Given the description of an element on the screen output the (x, y) to click on. 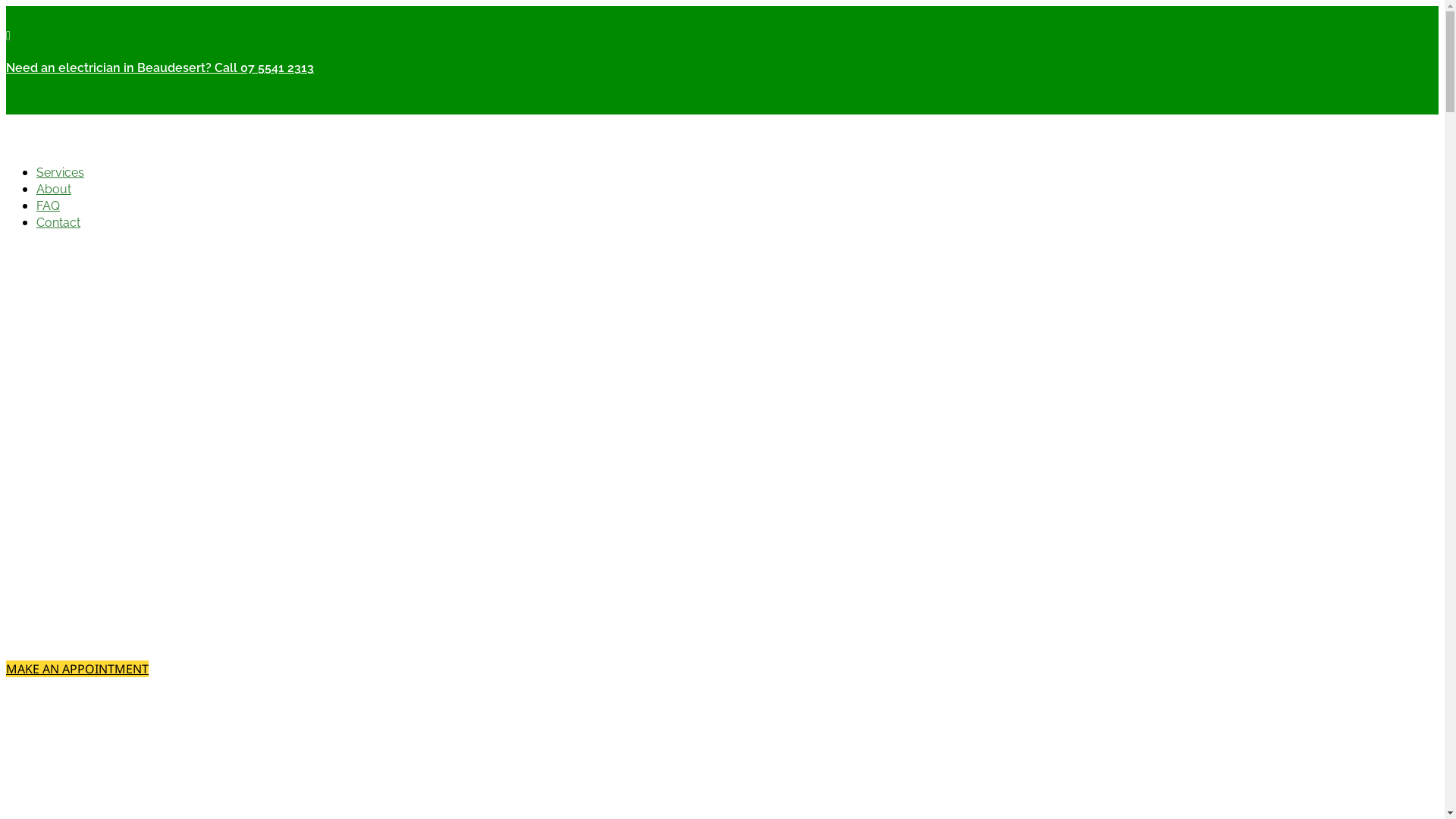
About Element type: text (53, 189)
FAQ Element type: text (47, 205)
Services Element type: text (60, 172)
Need an electrician in Beaudesert? Call 07 5541 2313 Element type: text (159, 67)
Contact Element type: text (58, 222)
MAKE AN APPOINTMENT Element type: text (77, 668)
